Given the description of an element on the screen output the (x, y) to click on. 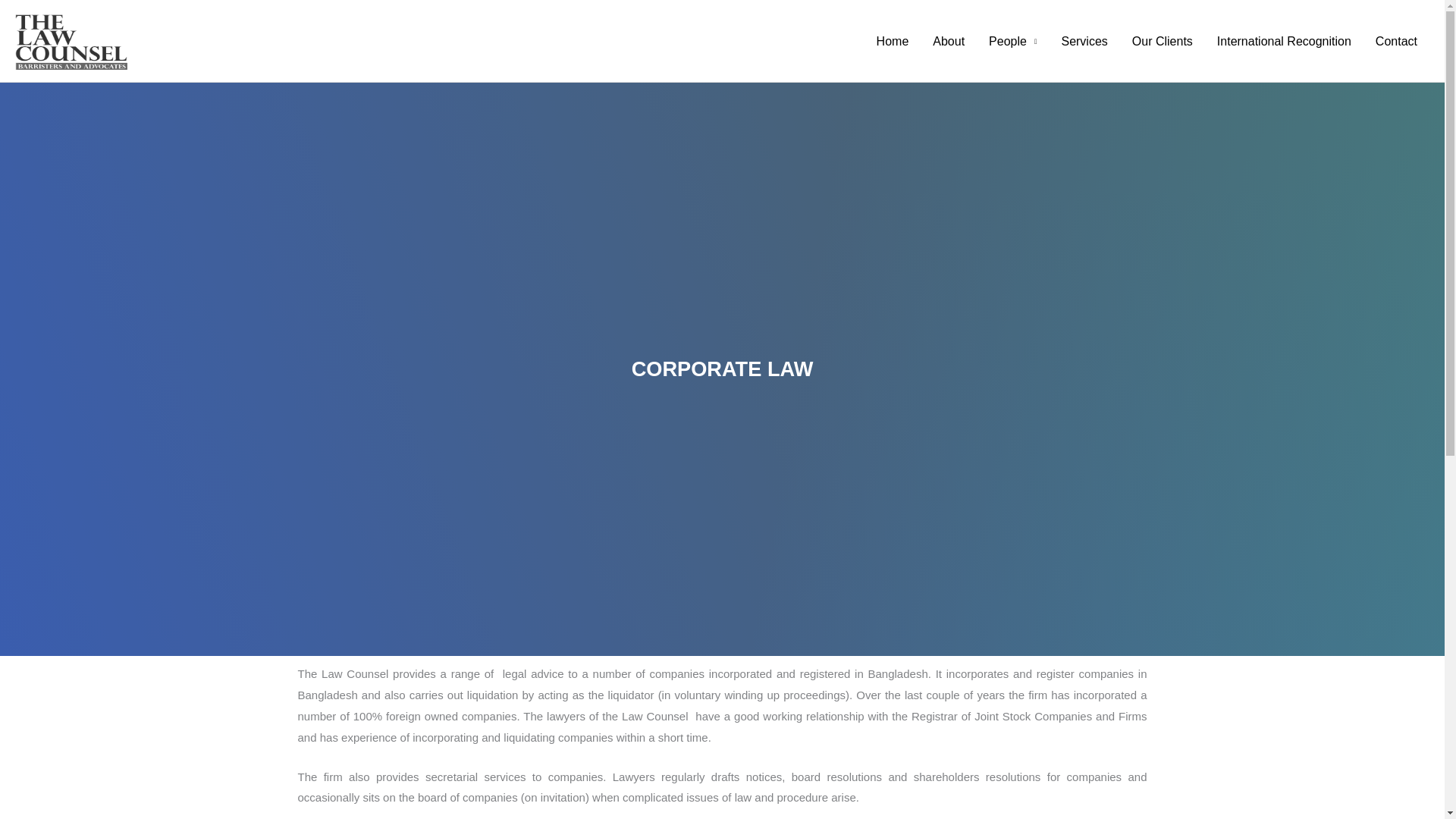
Home (892, 41)
People (1012, 41)
Our Clients (1162, 41)
Contact (1395, 41)
International Recognition (1283, 41)
About (948, 41)
Services (1083, 41)
